Given the description of an element on the screen output the (x, y) to click on. 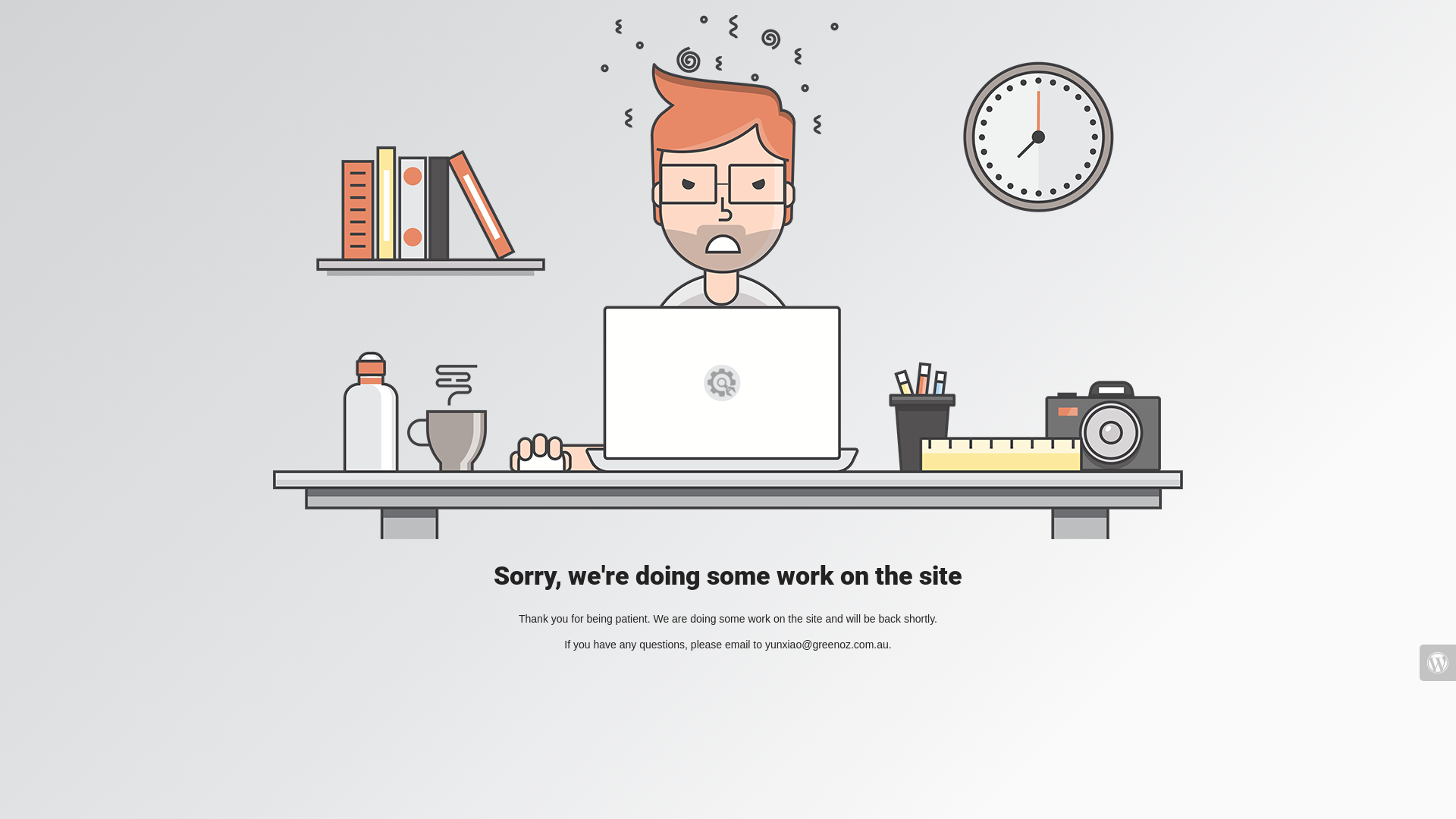
Mad Designer at work Element type: hover (728, 277)
